Given the description of an element on the screen output the (x, y) to click on. 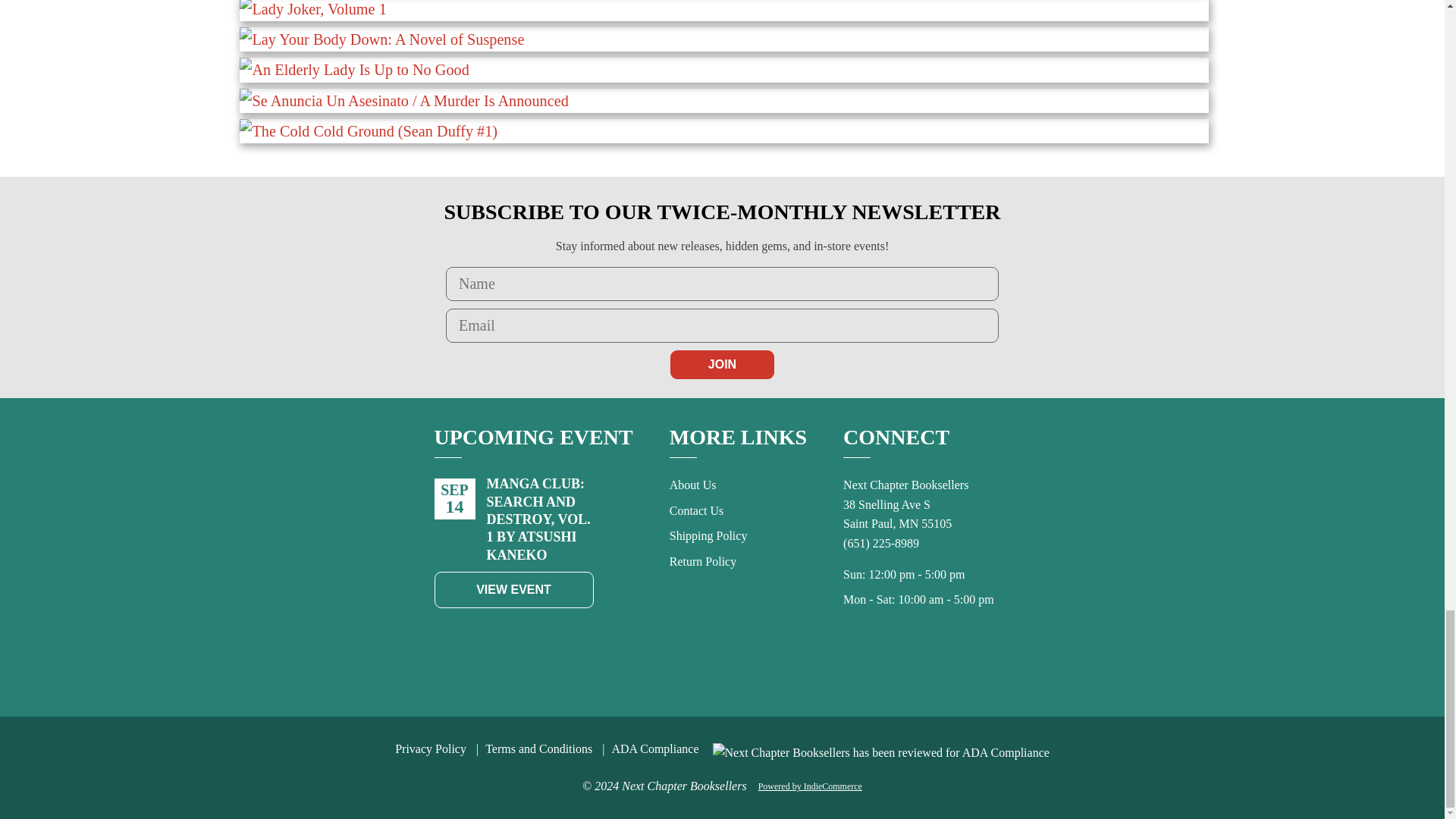
Connect with Instagram (959, 663)
Join (721, 364)
Connect with Facebook (892, 663)
Connect with Twitter (926, 663)
